Given the description of an element on the screen output the (x, y) to click on. 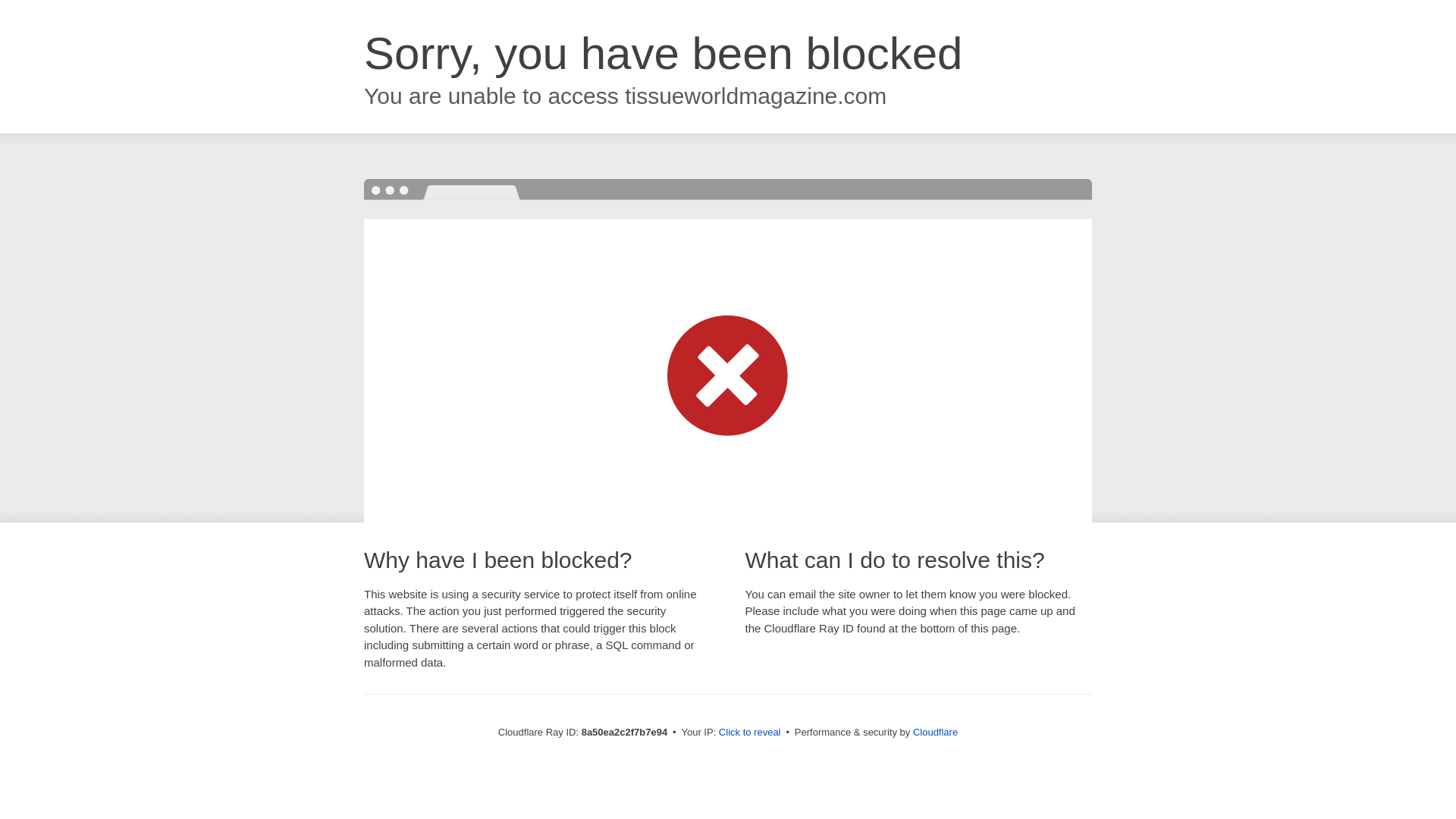
Cloudflare (935, 731)
Click to reveal (749, 732)
